Given the description of an element on the screen output the (x, y) to click on. 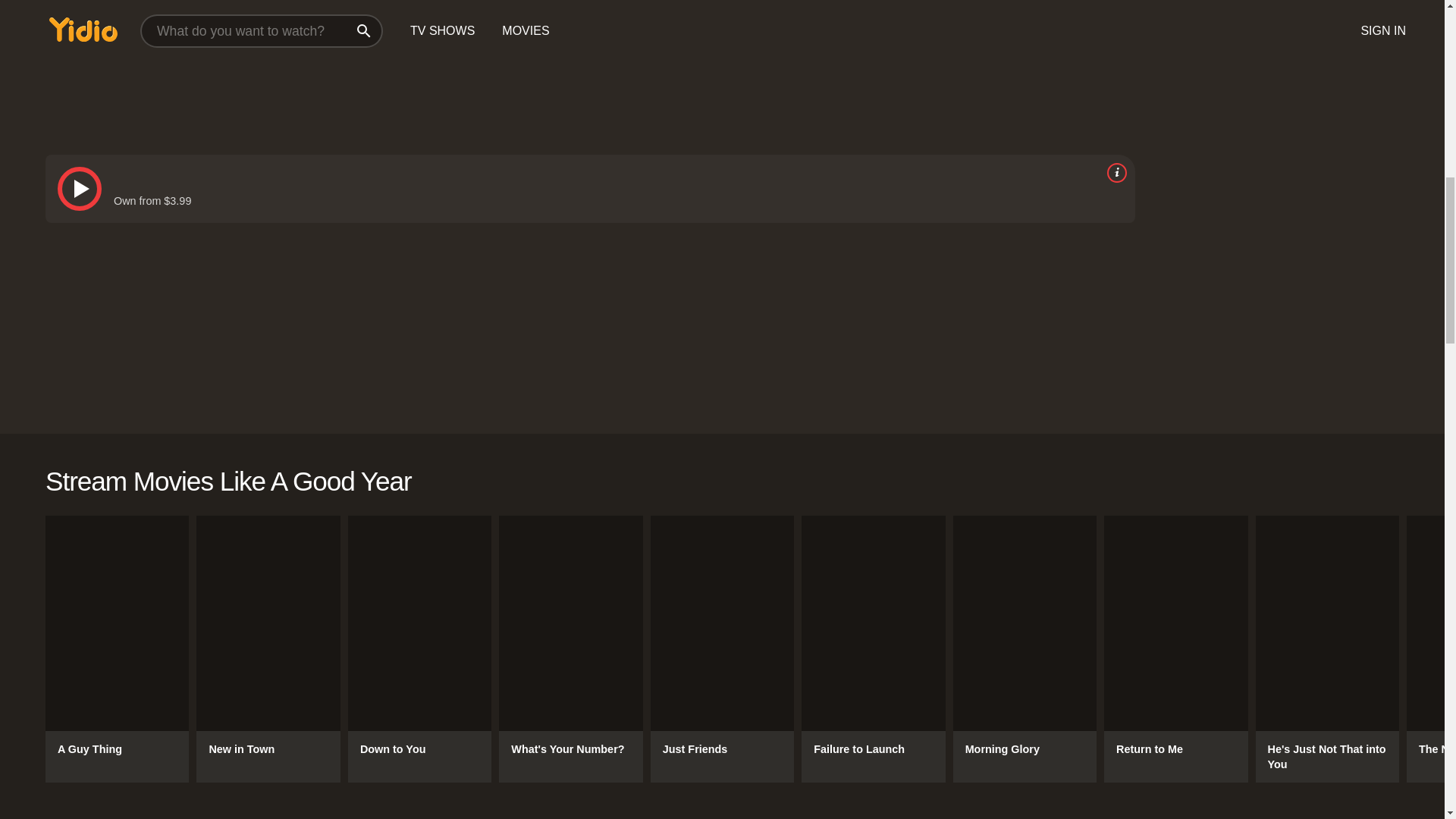
Advertisement (500, 63)
